Given the description of an element on the screen output the (x, y) to click on. 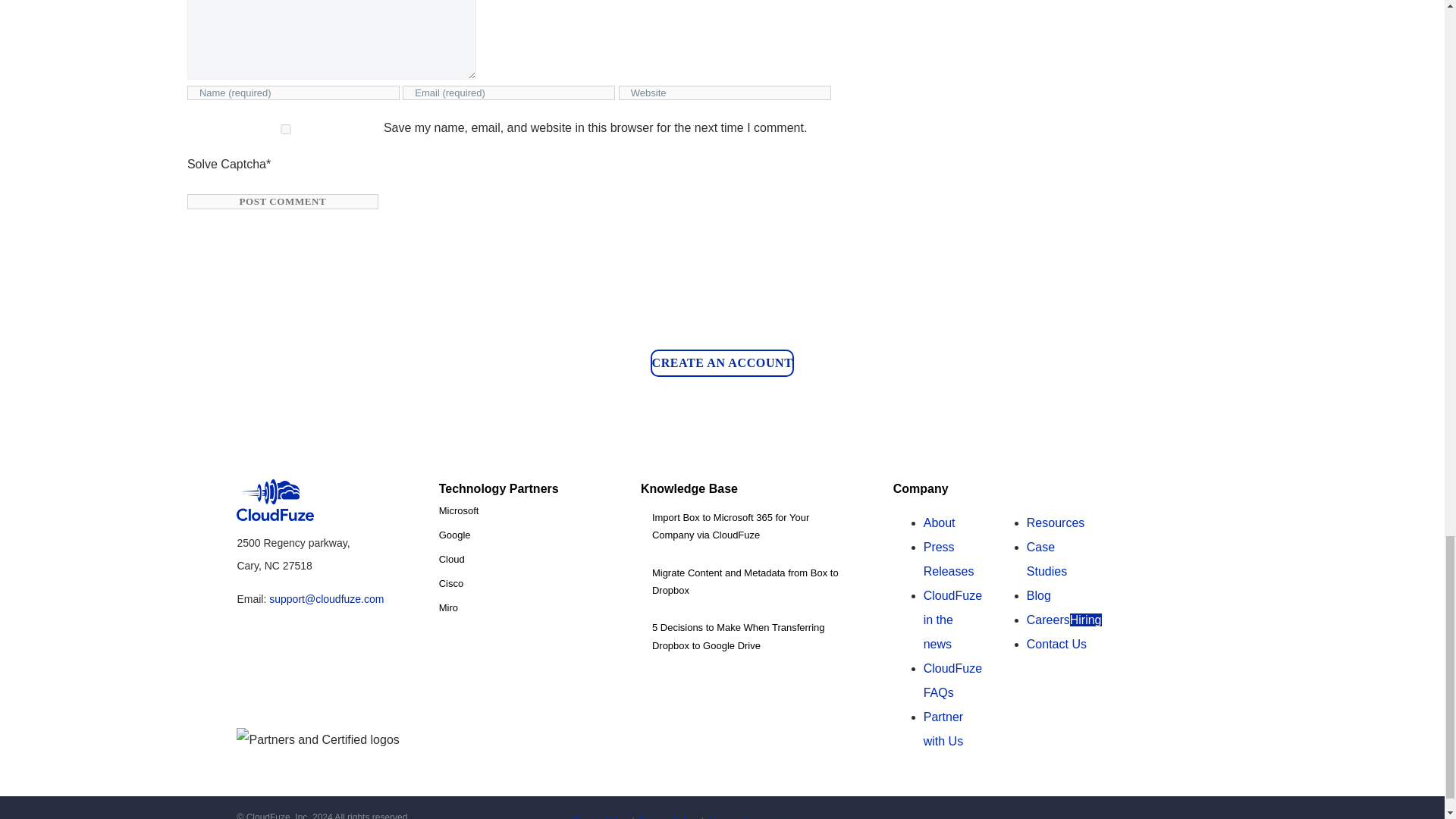
yes (285, 129)
Post Comment (282, 201)
